Given the description of an element on the screen output the (x, y) to click on. 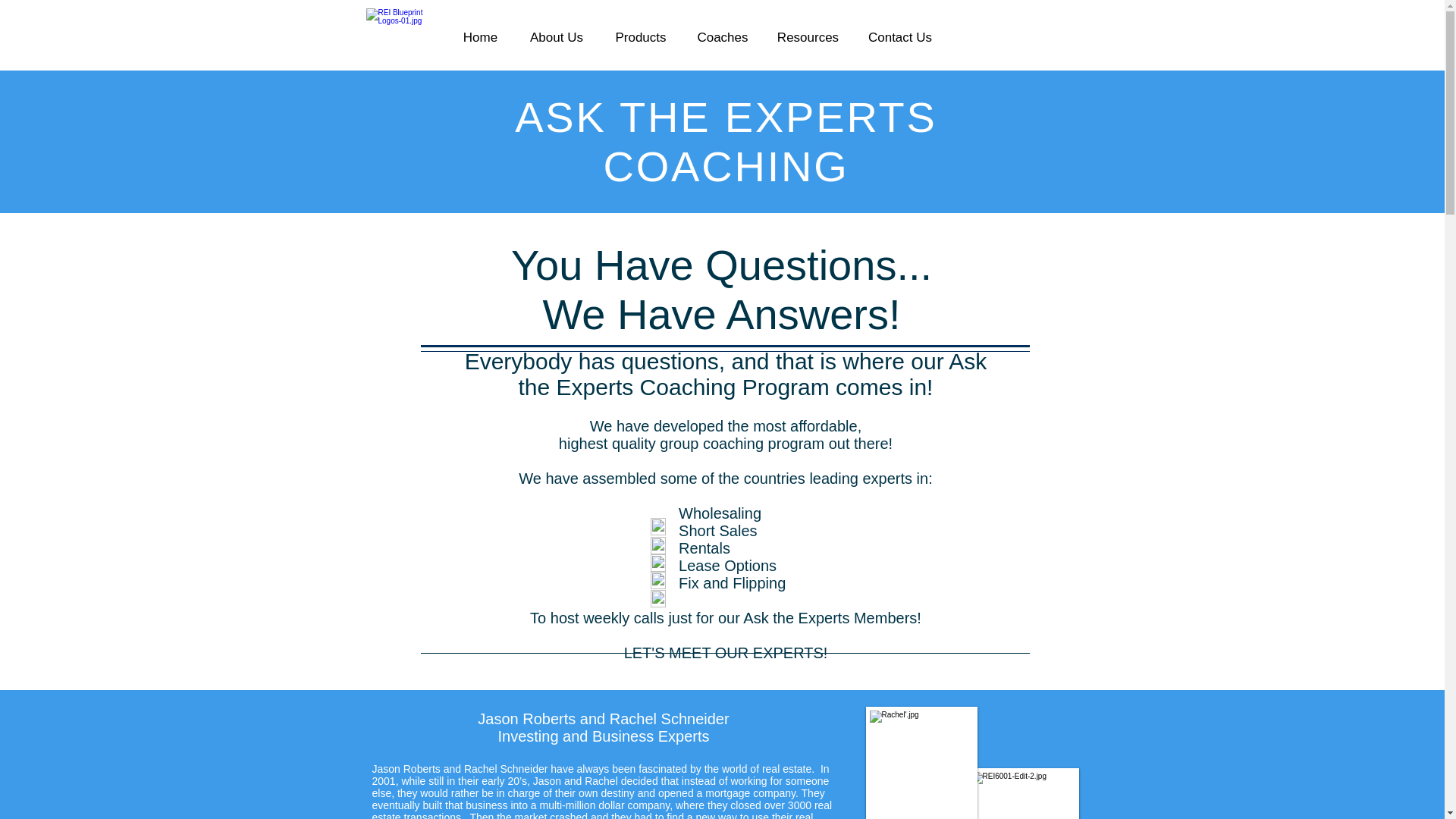
Products (639, 37)
Coaches (722, 37)
Home (479, 37)
About Us (556, 37)
Contact Us (899, 37)
Resources (806, 37)
